Given the description of an element on the screen output the (x, y) to click on. 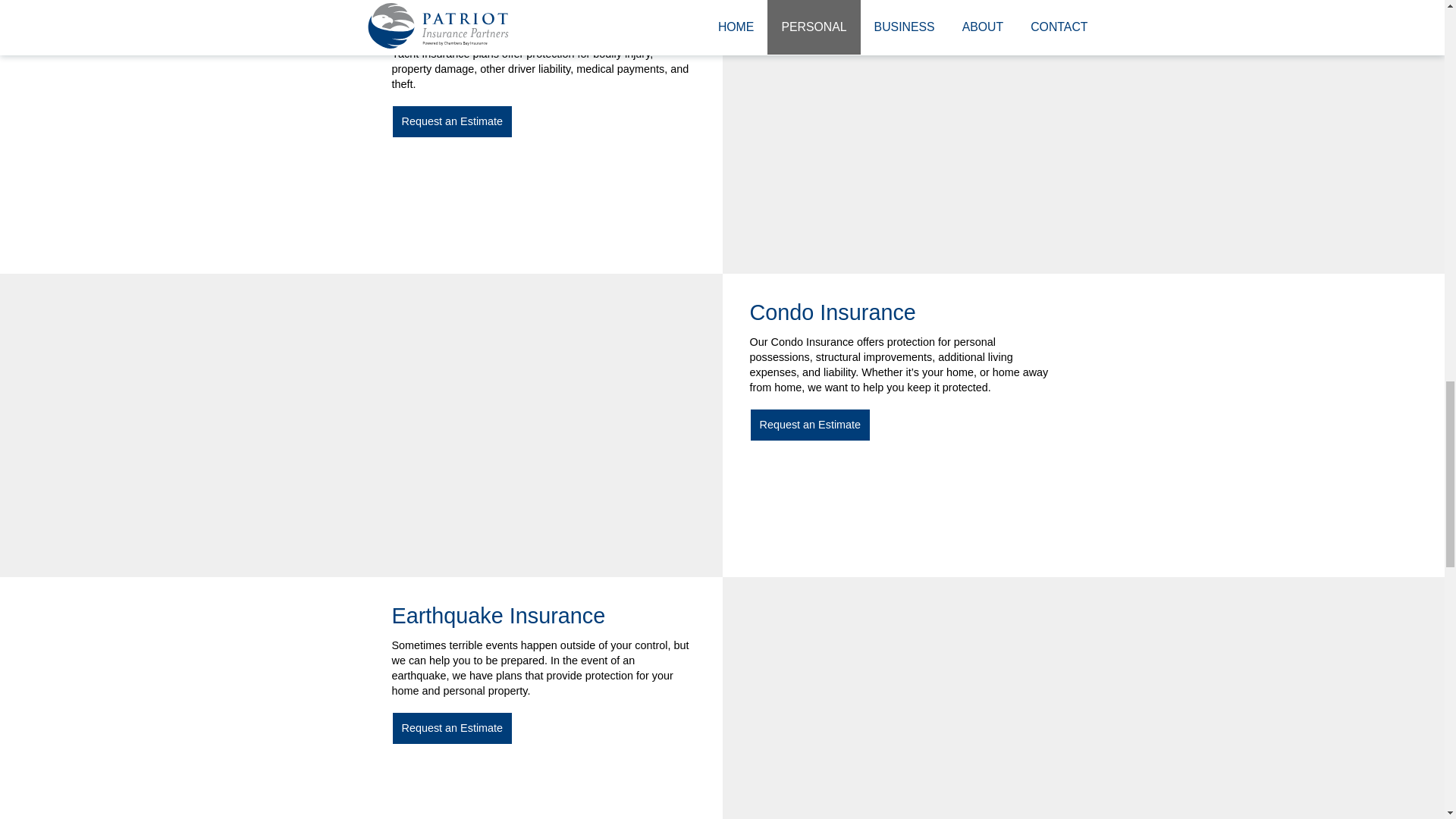
Request an Estimate (451, 121)
Request an Estimate (451, 727)
Request an Estimate (809, 424)
